Given the description of an element on the screen output the (x, y) to click on. 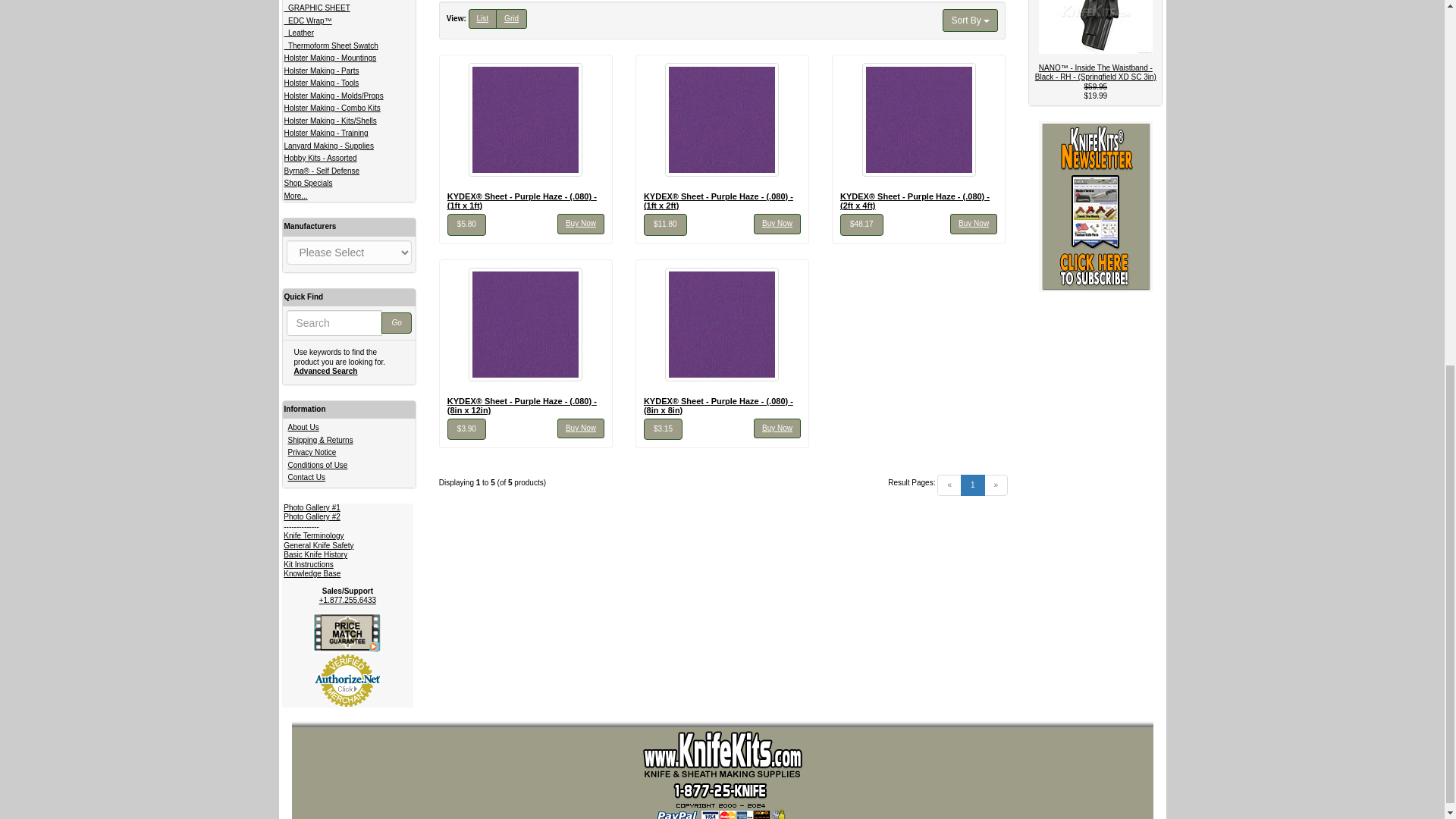
Buy Now (580, 223)
Buy Now (973, 223)
List (482, 18)
Sort By (969, 20)
 Page 1  (972, 485)
Grid (511, 18)
Buy Now (777, 223)
